Given the description of an element on the screen output the (x, y) to click on. 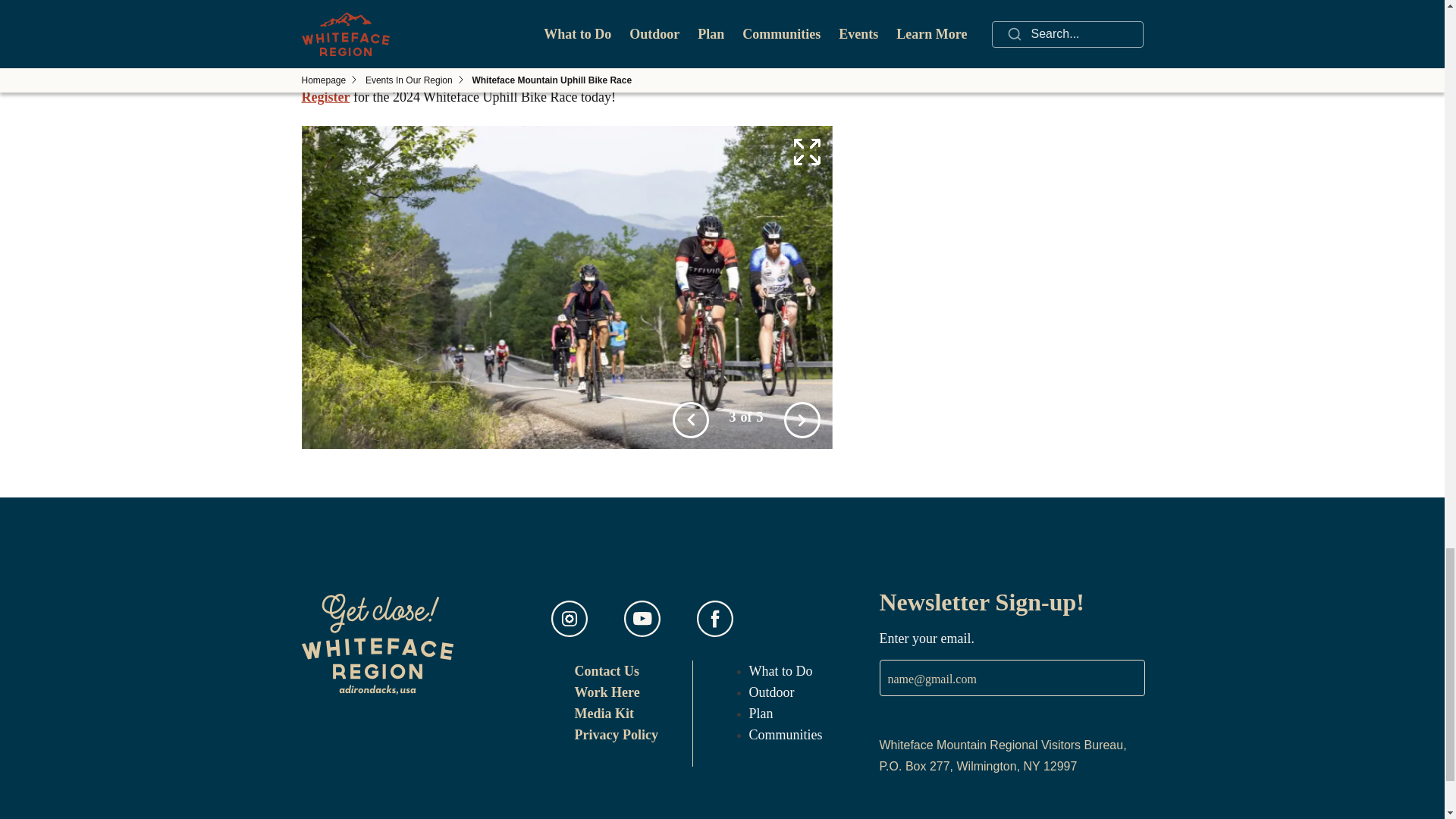
Whiteface Region (607, 670)
